Given the description of an element on the screen output the (x, y) to click on. 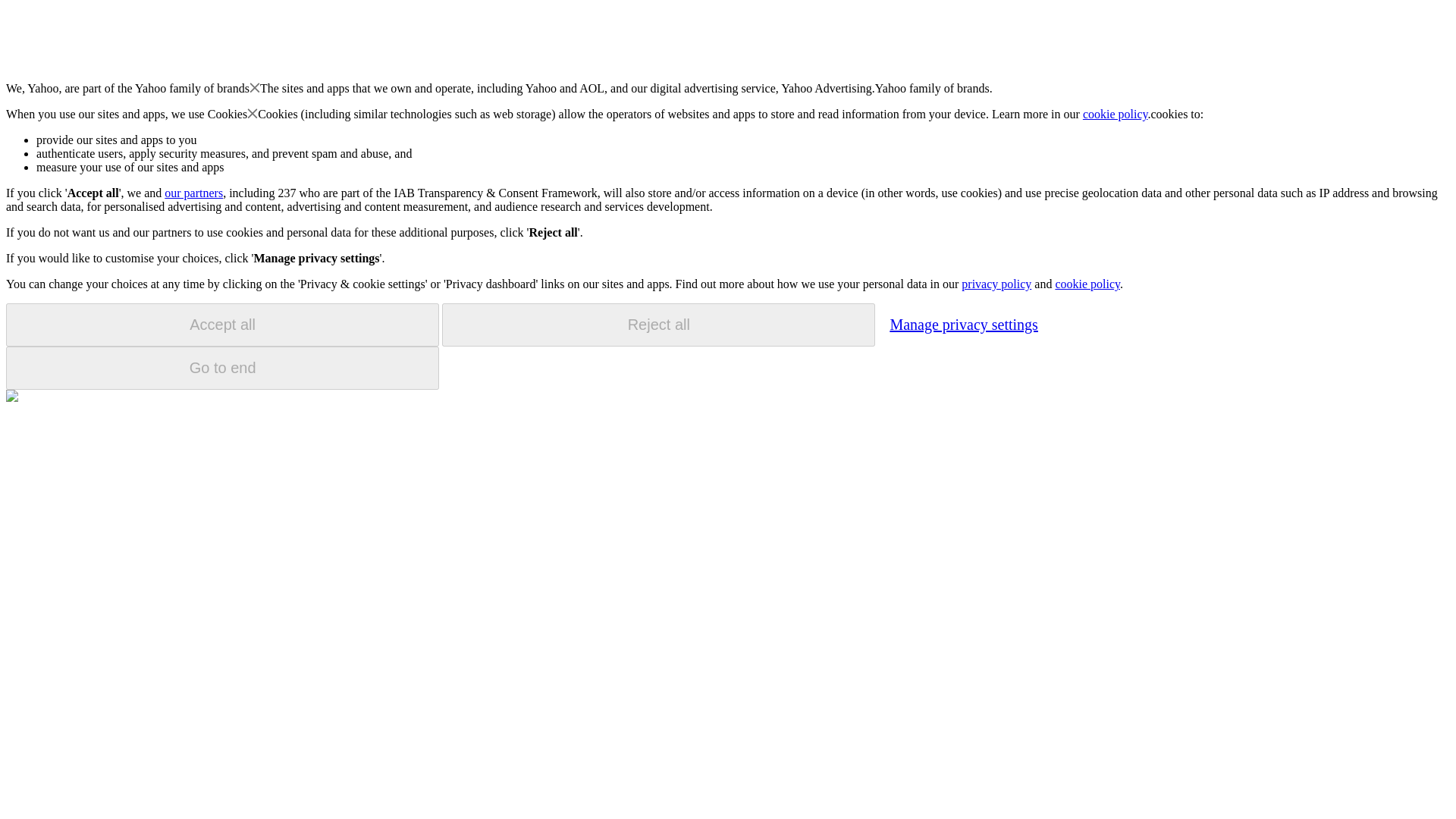
Manage privacy settings (963, 323)
privacy policy (995, 283)
our partners (193, 192)
cookie policy (1086, 283)
Go to end (222, 367)
Accept all (222, 324)
Reject all (658, 324)
cookie policy (1115, 113)
